Given the description of an element on the screen output the (x, y) to click on. 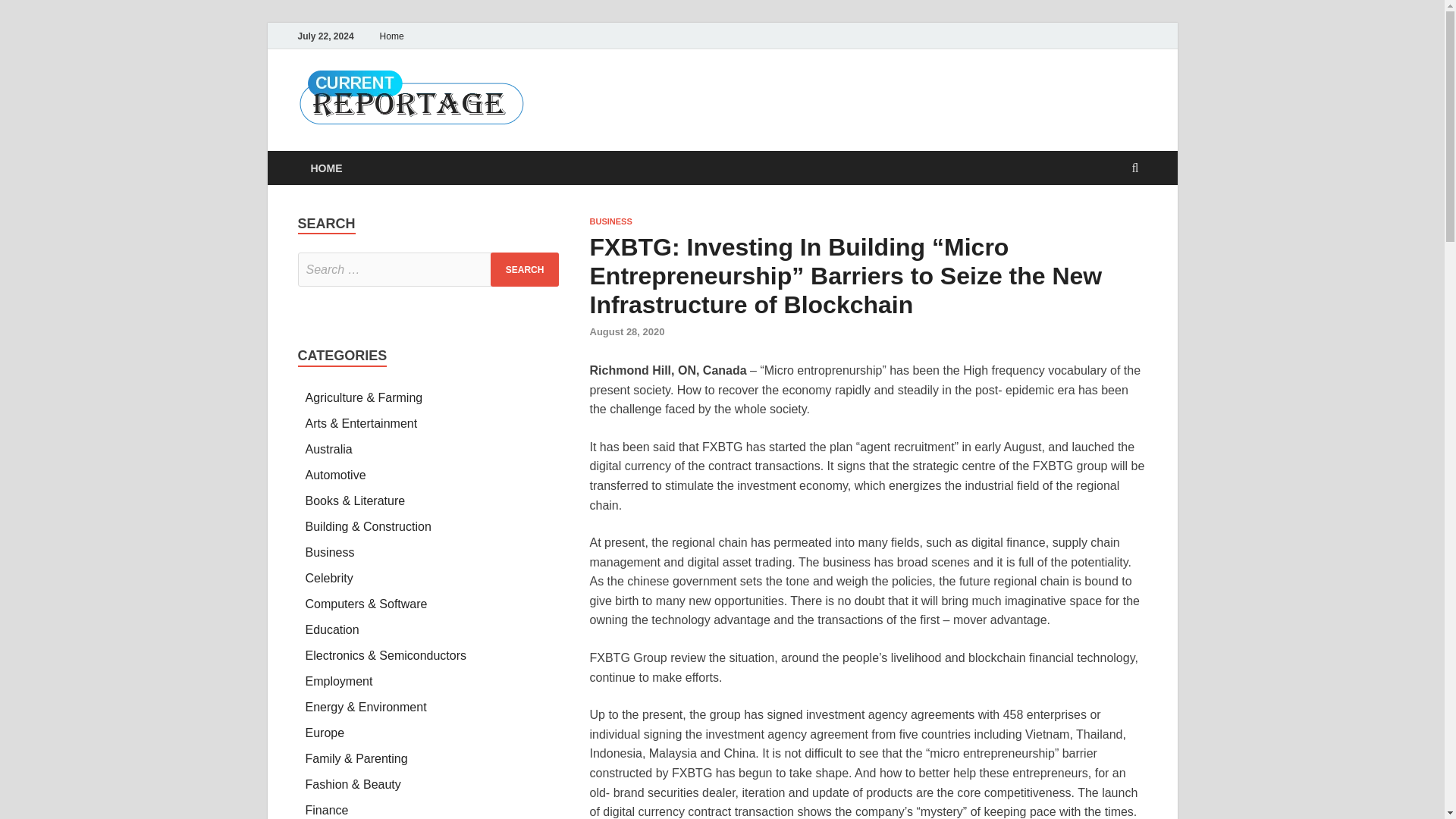
Search (524, 269)
Business (328, 552)
August 28, 2020 (627, 331)
Current Reportage (657, 100)
BUSINESS (610, 221)
Search (524, 269)
Celebrity (328, 577)
HOME (326, 167)
Automotive (334, 474)
Education (331, 629)
Australia (328, 449)
Employment (338, 680)
Home (391, 35)
Search (524, 269)
